Given the description of an element on the screen output the (x, y) to click on. 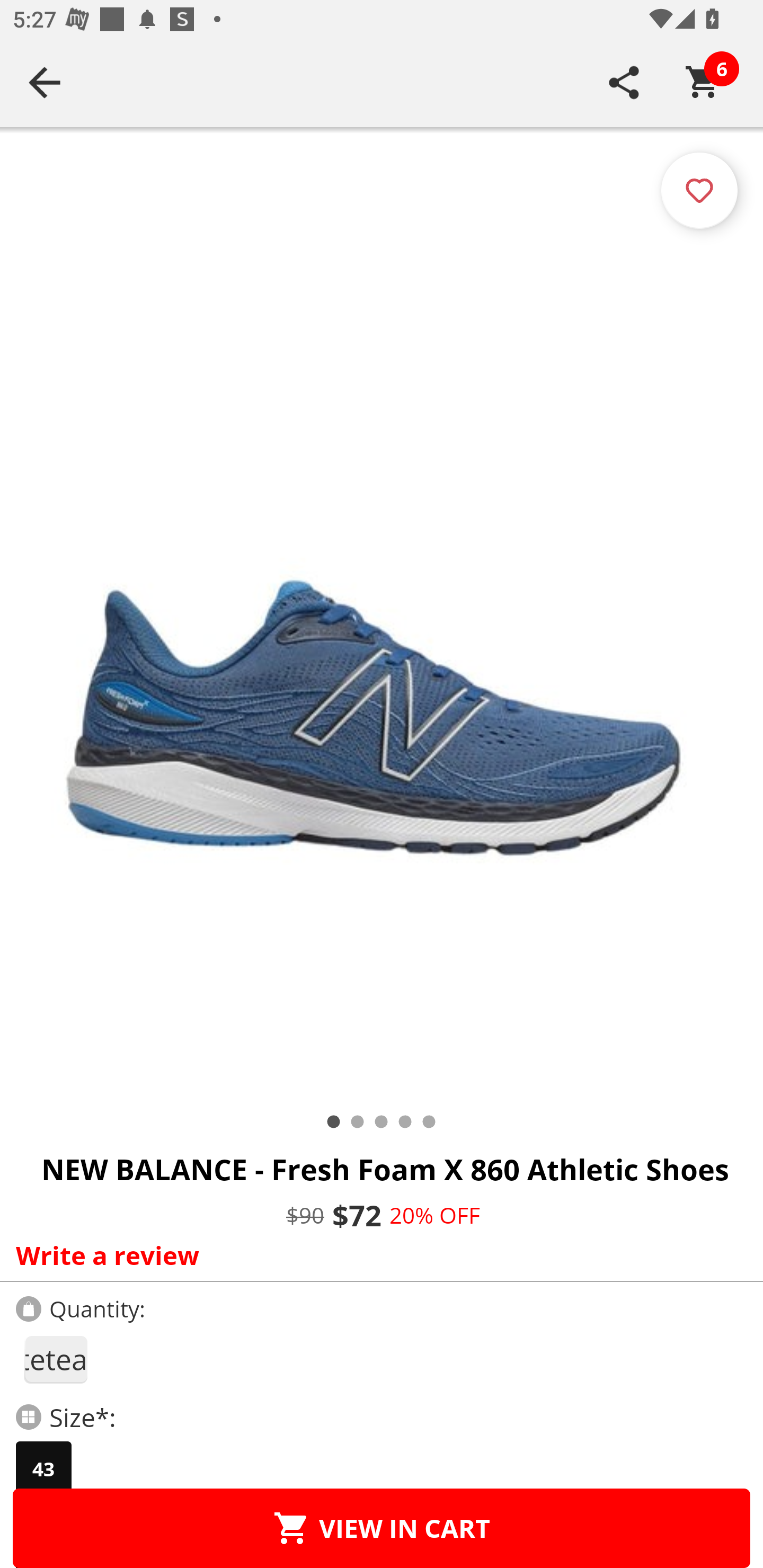
Navigate up (44, 82)
SHARE (623, 82)
Cart (703, 81)
Write a review (377, 1255)
1toothpastetea (55, 1358)
43 (43, 1468)
VIEW IN CART (381, 1528)
